Given the description of an element on the screen output the (x, y) to click on. 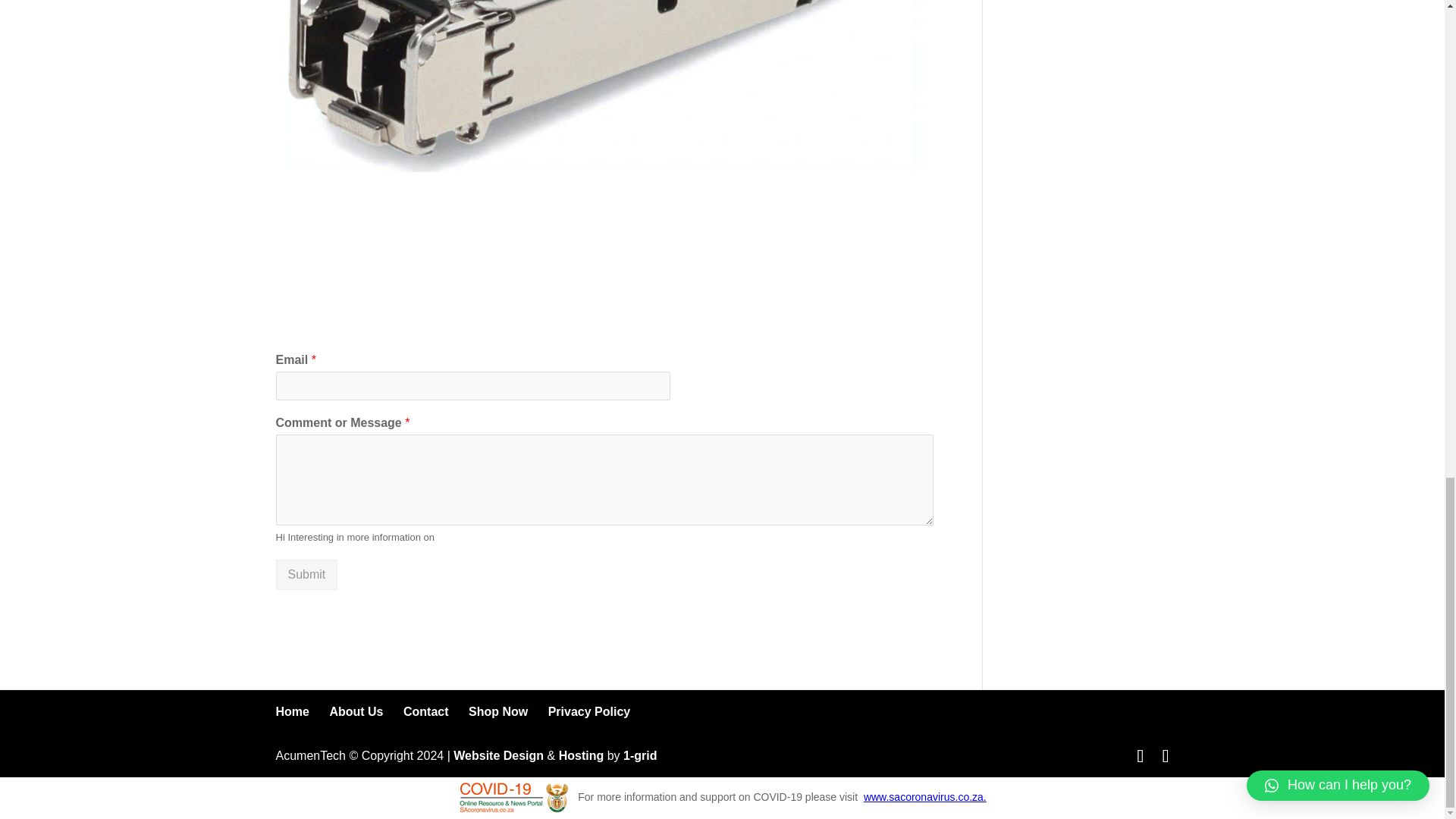
Home (292, 711)
Submit (306, 574)
